Given the description of an element on the screen output the (x, y) to click on. 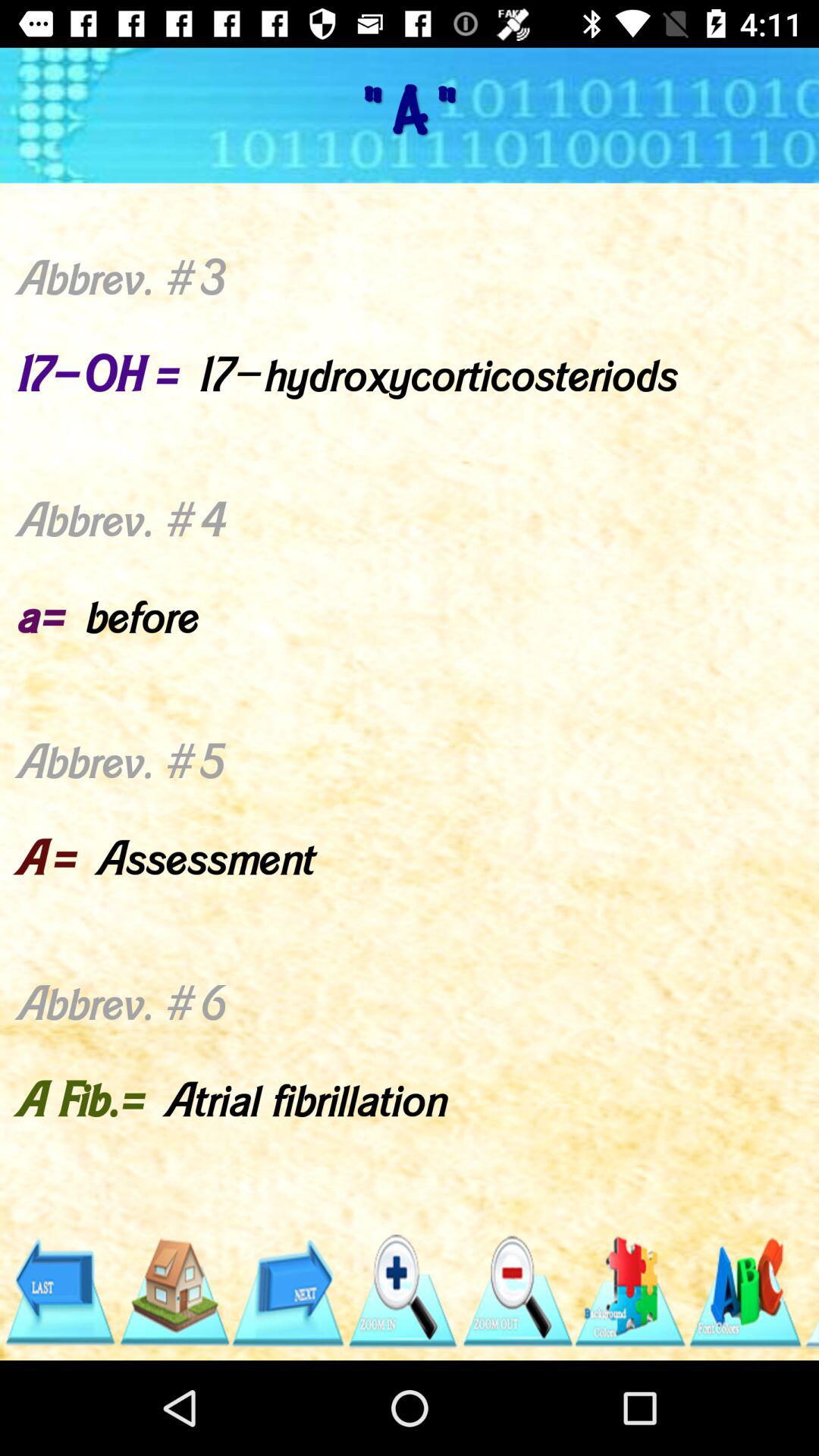
tap the item below the abbrev 	1 (59, 1291)
